Given the description of an element on the screen output the (x, y) to click on. 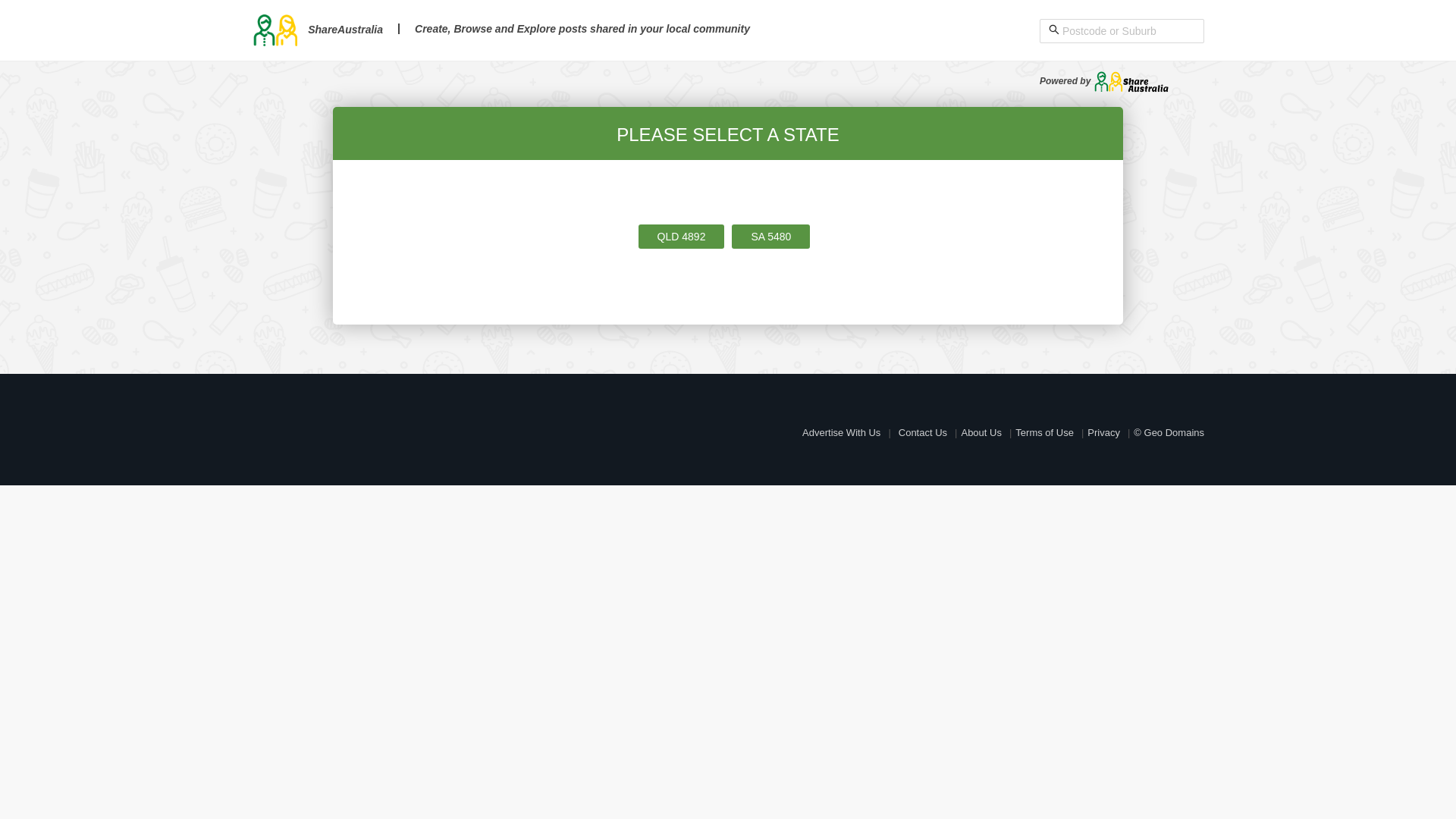
About Us Element type: text (980, 432)
QLD 4892 Element type: text (681, 236)
Advertise With Us Element type: text (841, 432)
SA 5480 Element type: text (770, 236)
Privacy Element type: text (1103, 432)
Terms of Use Element type: text (1044, 432)
Powered by Element type: text (1104, 80)
ShareAustralia Element type: text (316, 29)
Contact Us Element type: text (922, 432)
